Given the description of an element on the screen output the (x, y) to click on. 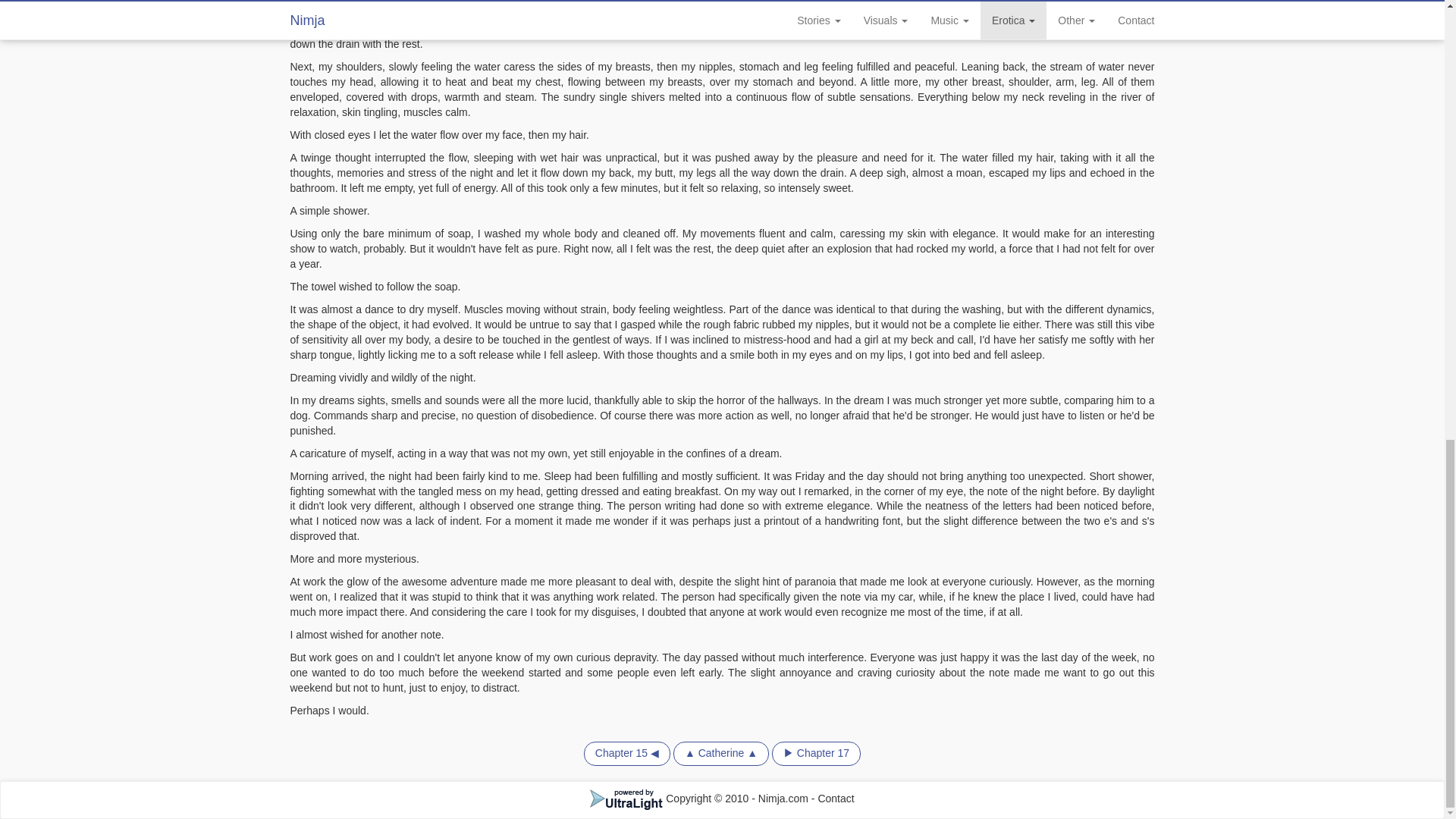
Contact (834, 798)
